Given the description of an element on the screen output the (x, y) to click on. 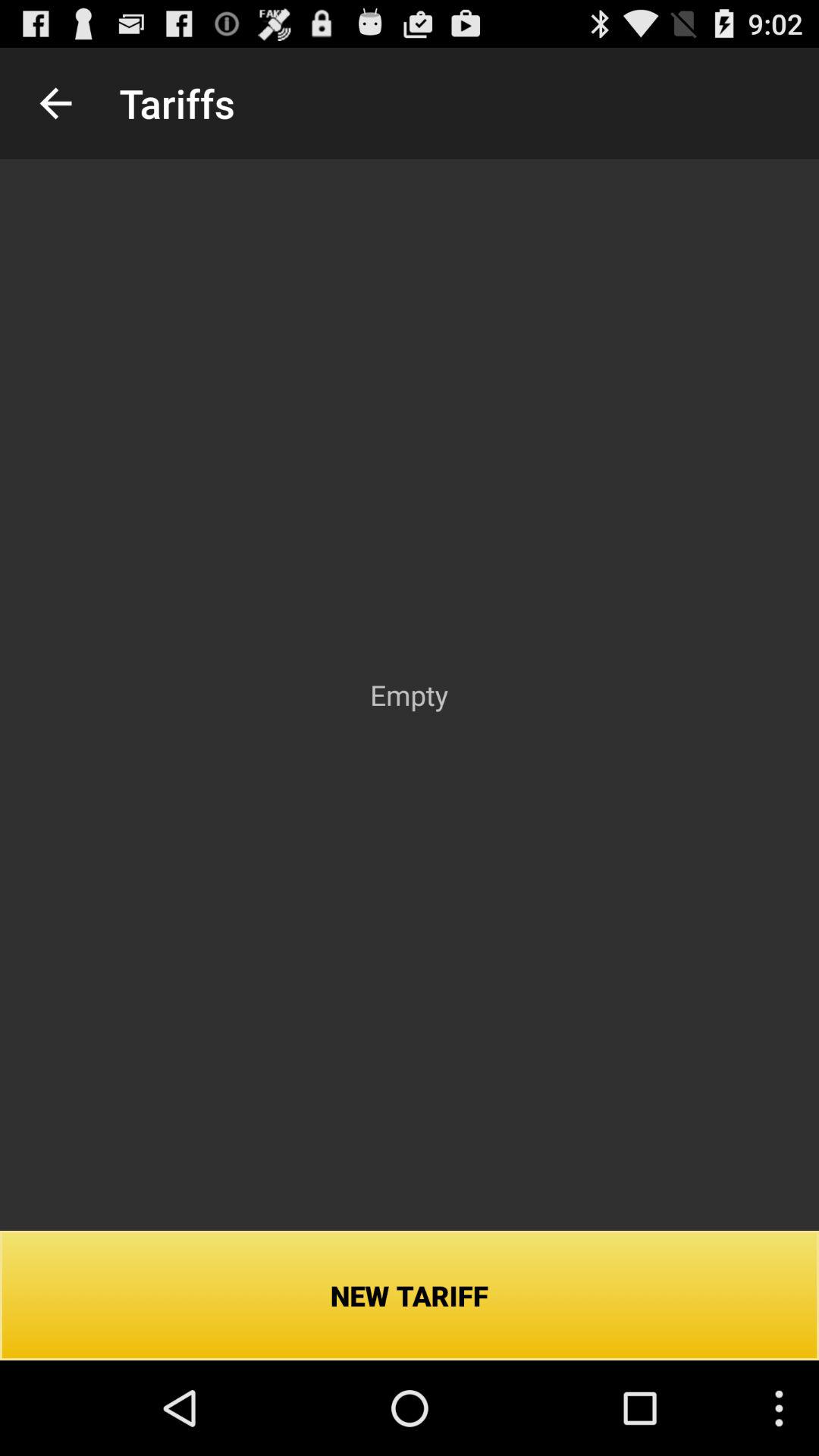
press the item at the bottom (409, 1295)
